Given the description of an element on the screen output the (x, y) to click on. 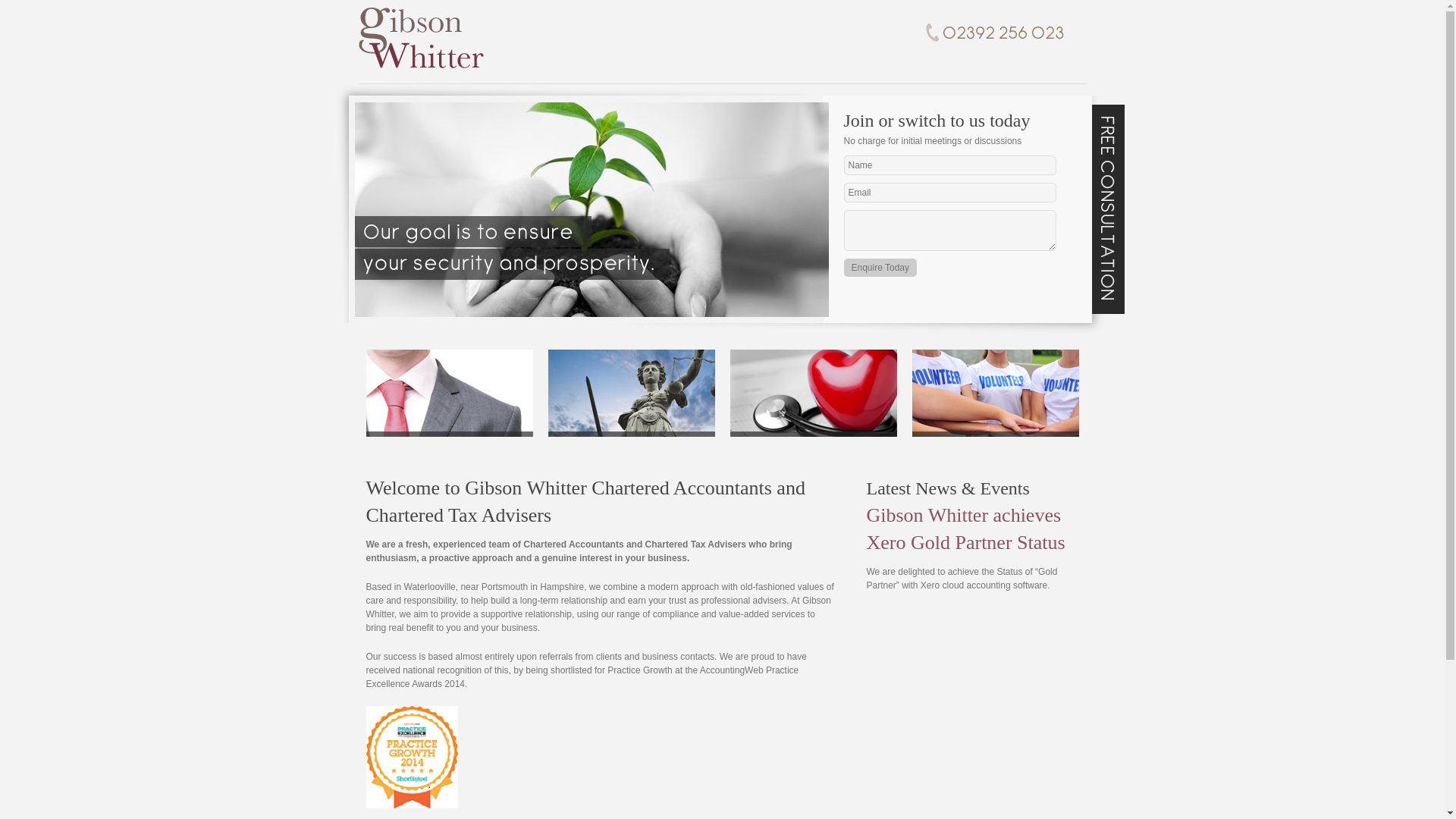
img1 (591, 209)
Gibson Whitter achieves Xero Gold Partner Status (965, 528)
Enquire Today (880, 267)
Enquire Today (880, 267)
